Given the description of an element on the screen output the (x, y) to click on. 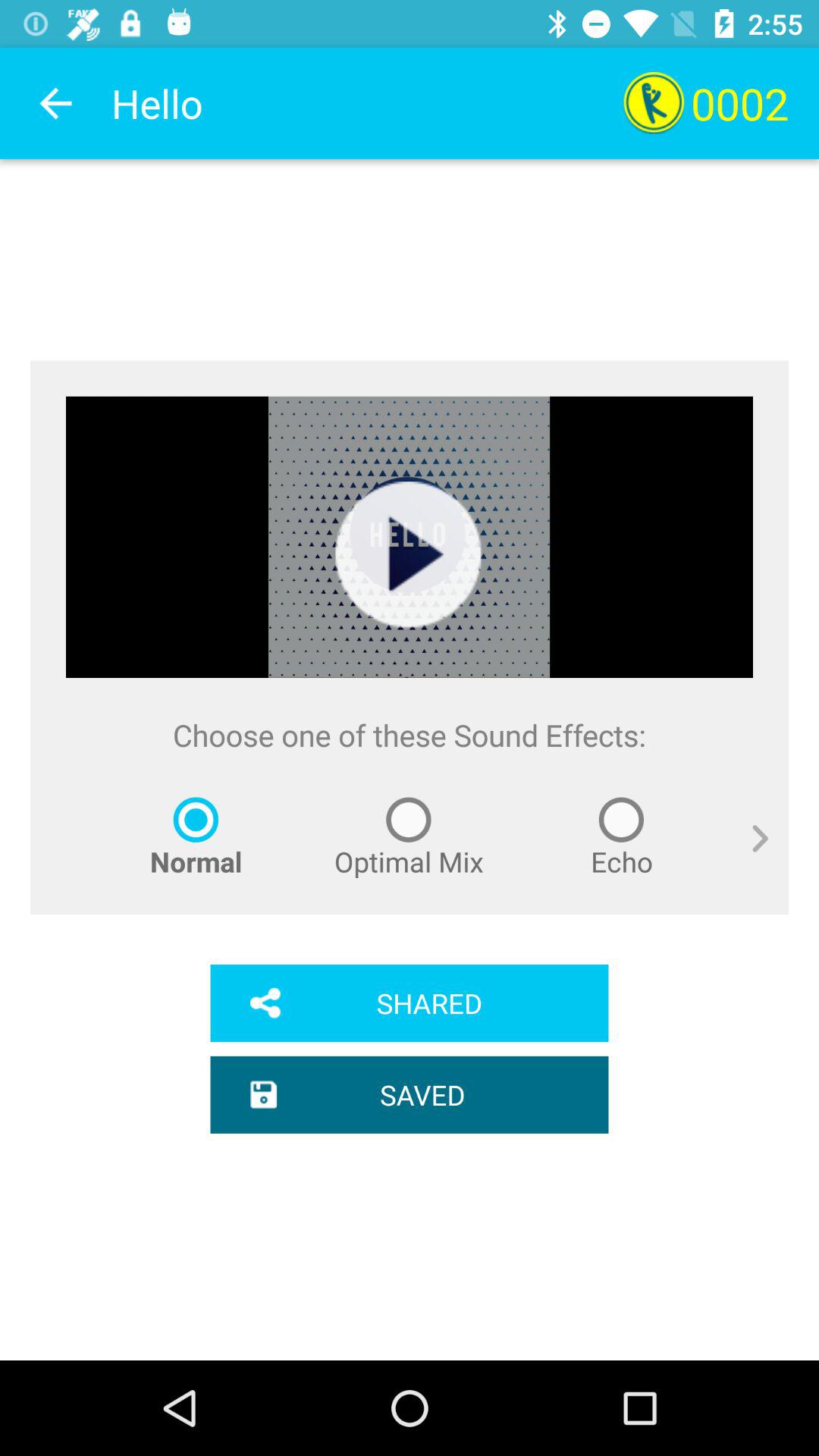
launch the item below normal icon (409, 1002)
